Given the description of an element on the screen output the (x, y) to click on. 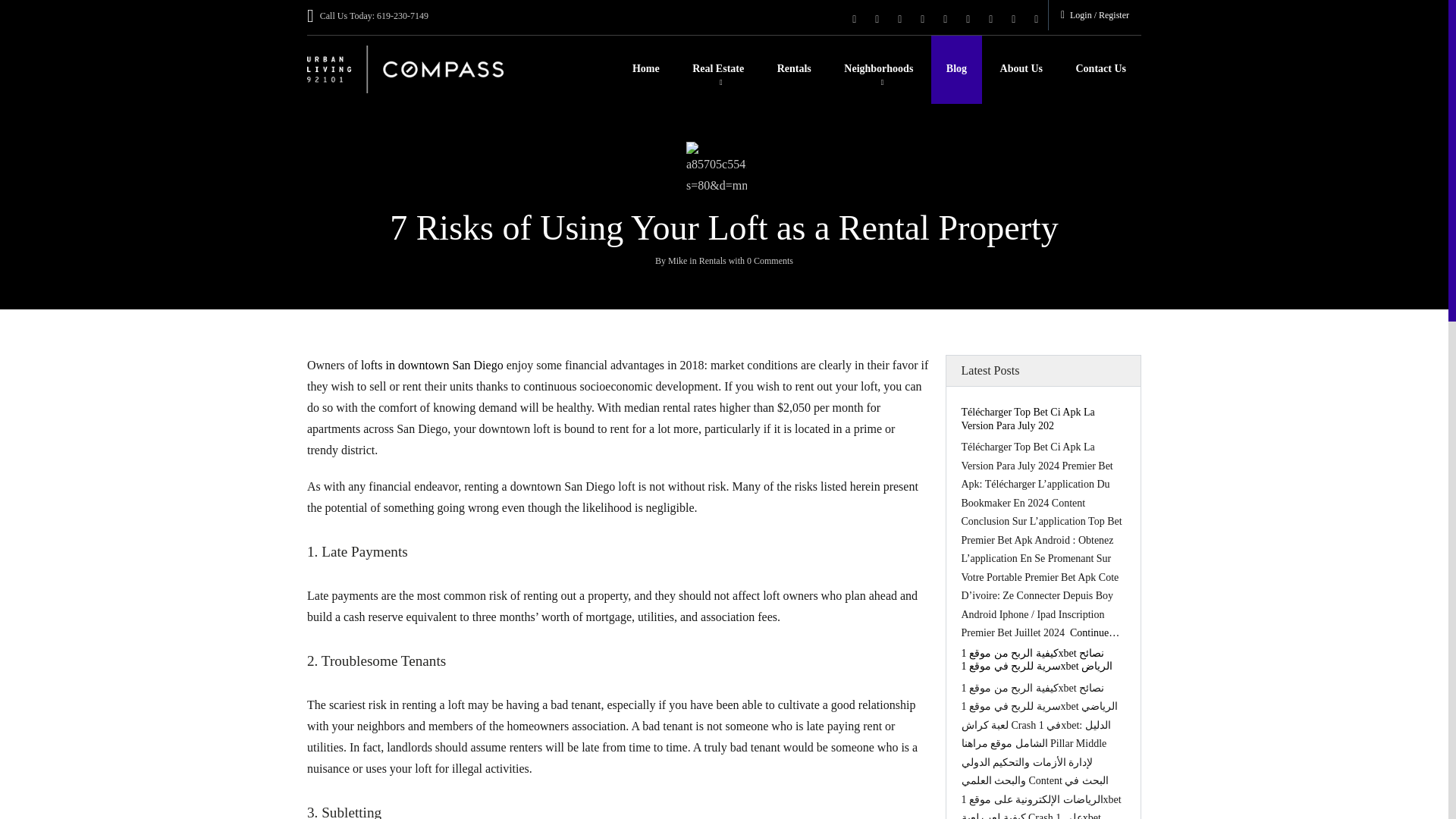
Rentals (794, 70)
619-230-7149 (402, 15)
Neighborhoods (878, 70)
Real Estate (717, 70)
